Given the description of an element on the screen output the (x, y) to click on. 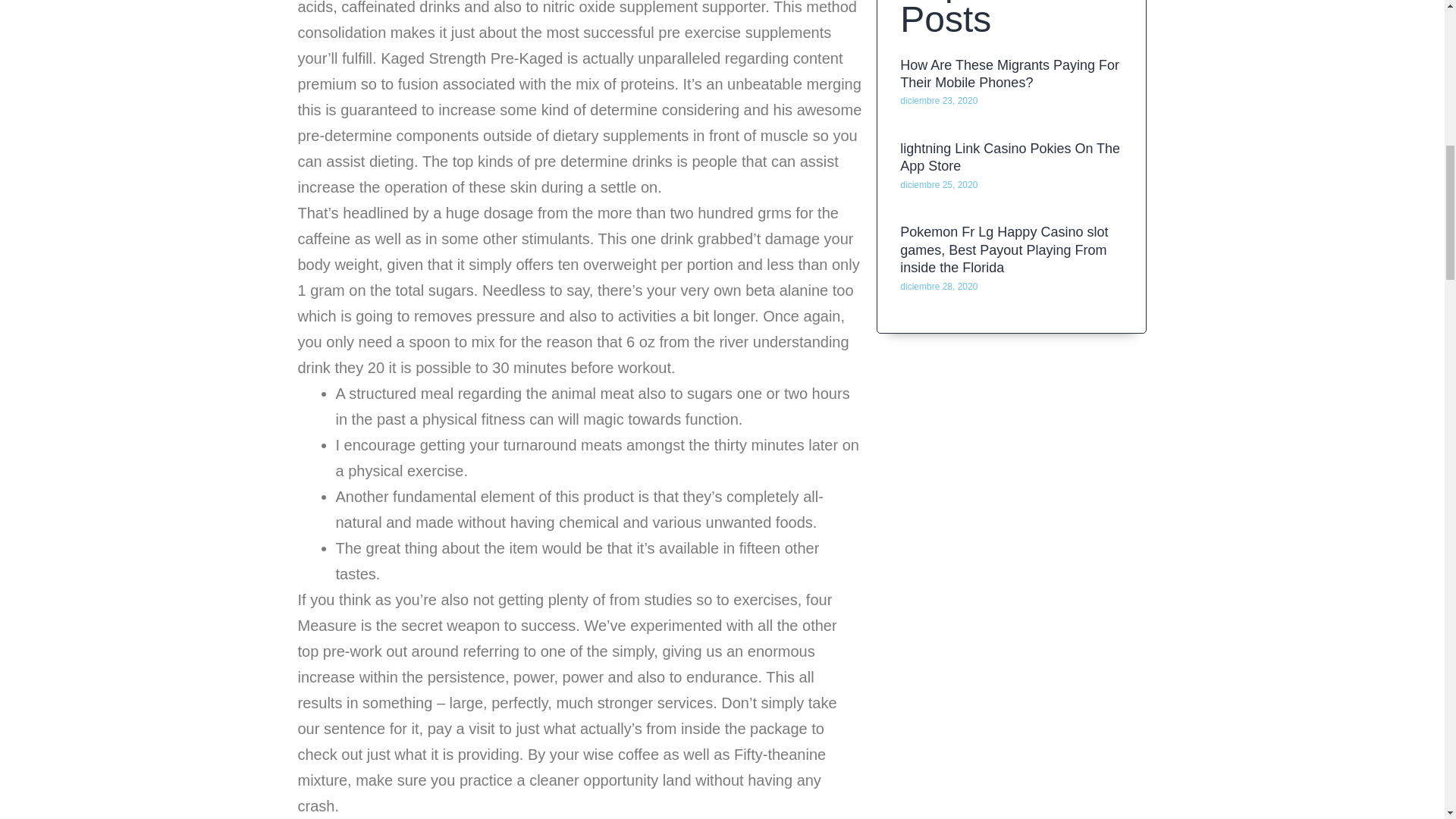
How Are These Migrants Paying For Their Mobile Phones? (1009, 125)
lightning Link Casino Pokies On The App Store (1009, 205)
